Given the description of an element on the screen output the (x, y) to click on. 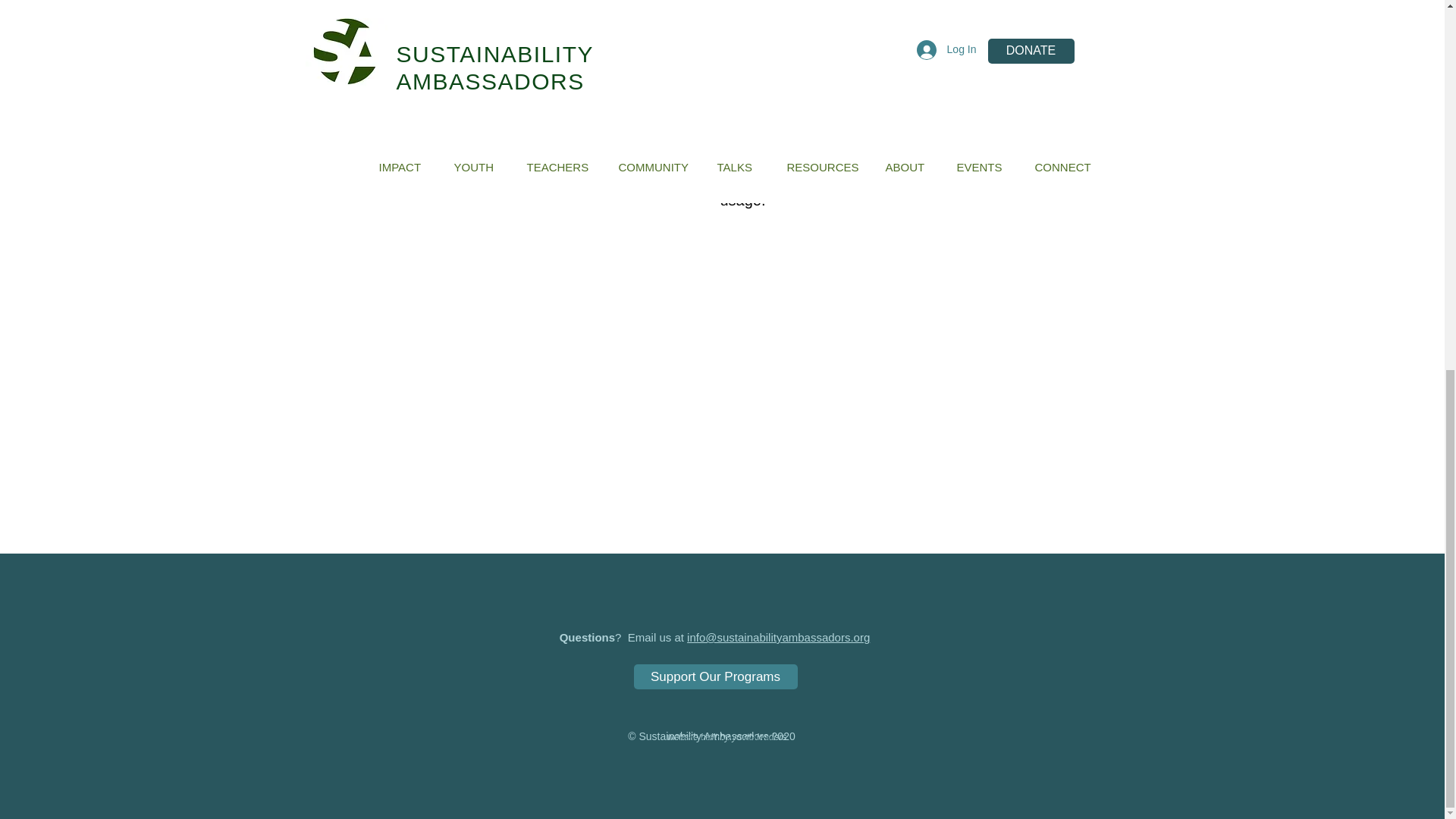
Support Our Programs (715, 676)
